Given the description of an element on the screen output the (x, y) to click on. 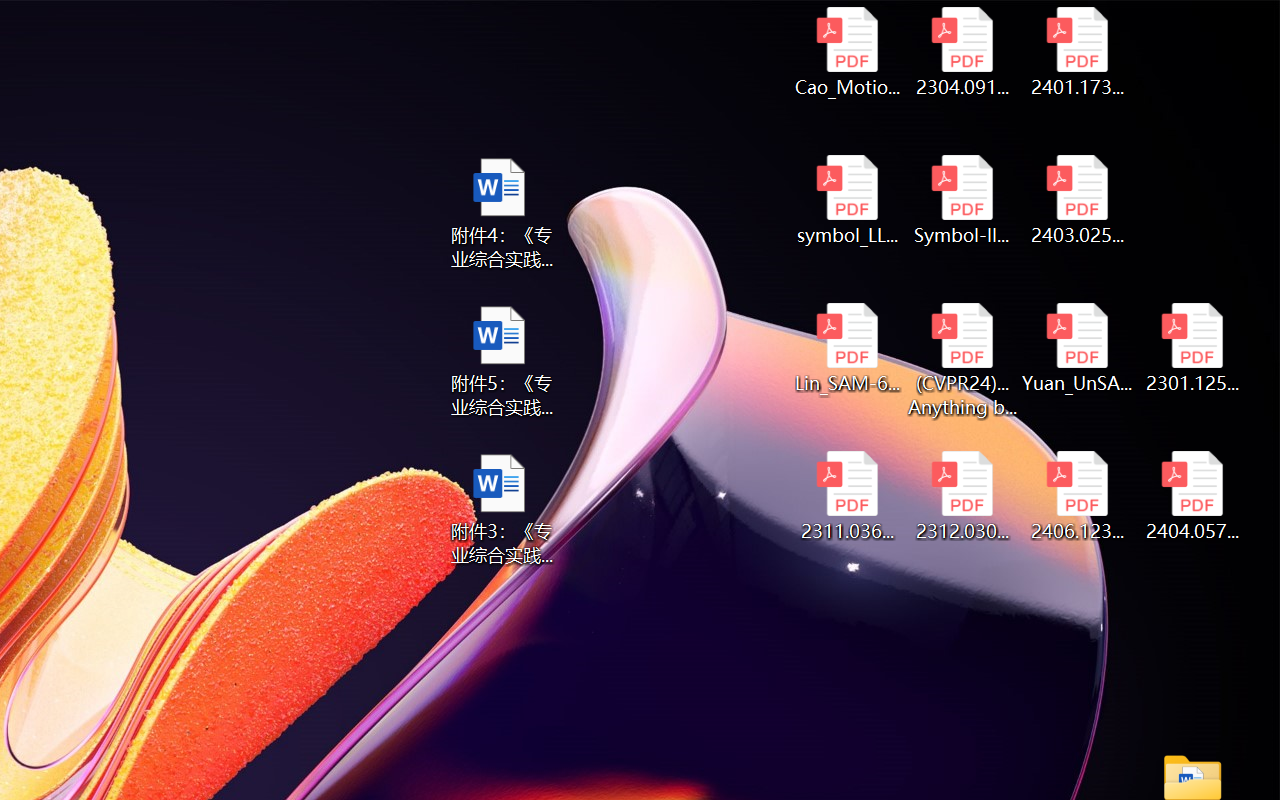
2301.12597v3.pdf (1192, 348)
2401.17399v1.pdf (1077, 52)
2403.02502v1.pdf (1077, 200)
2406.12373v2.pdf (1077, 496)
2311.03658v2.pdf (846, 496)
2304.09121v3.pdf (962, 52)
symbol_LLM.pdf (846, 200)
2404.05719v1.pdf (1192, 496)
(CVPR24)Matching Anything by Segmenting Anything.pdf (962, 360)
Symbol-llm-v2.pdf (962, 200)
